Given the description of an element on the screen output the (x, y) to click on. 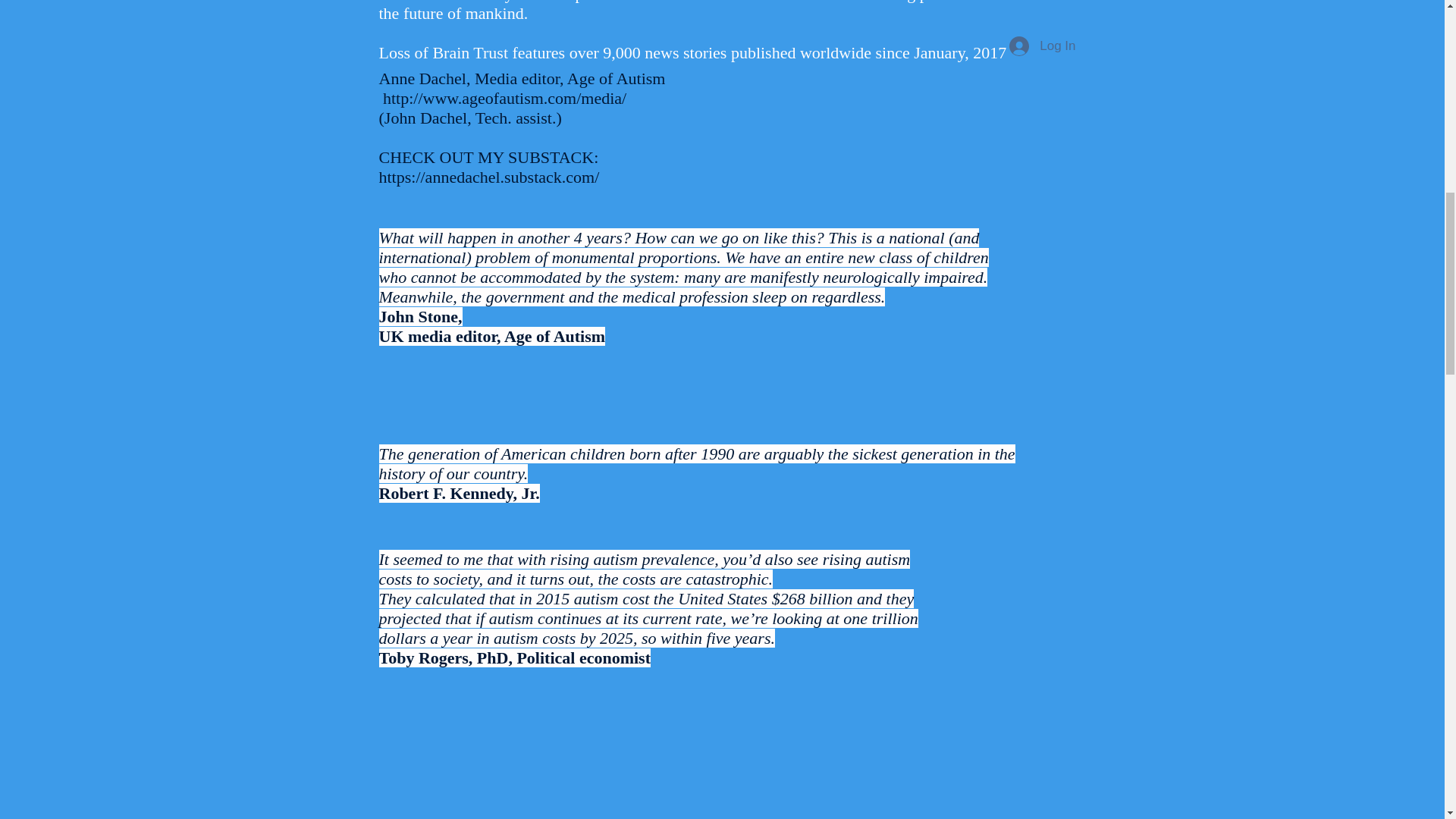
Log In (1042, 45)
